Given the description of an element on the screen output the (x, y) to click on. 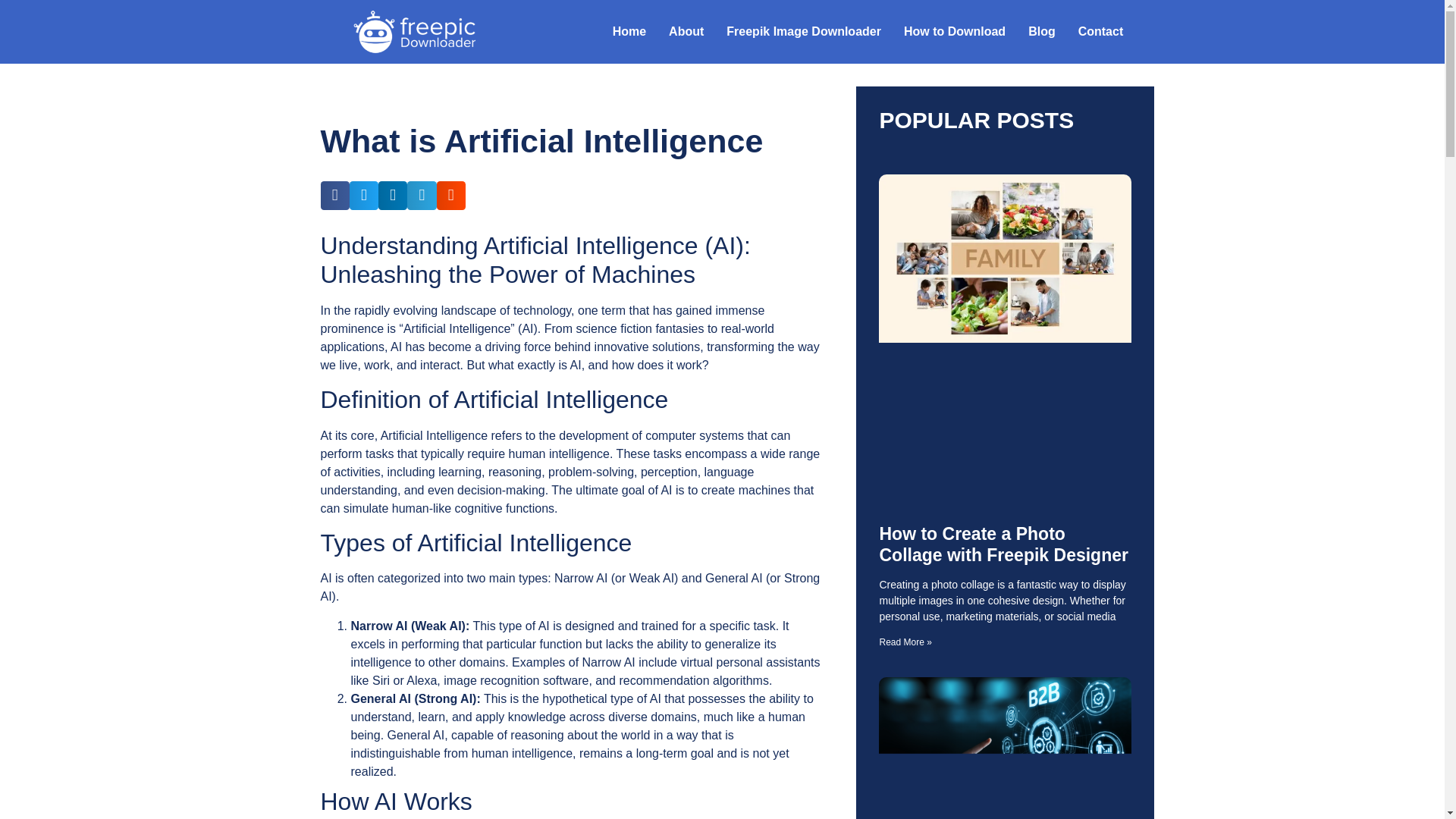
About (686, 31)
How to Download (954, 31)
Freepik Image Downloader (803, 31)
Blog (1041, 31)
Home (629, 31)
How to Create a Photo Collage with Freepik Designer (1002, 544)
Contact (1101, 31)
